Given the description of an element on the screen output the (x, y) to click on. 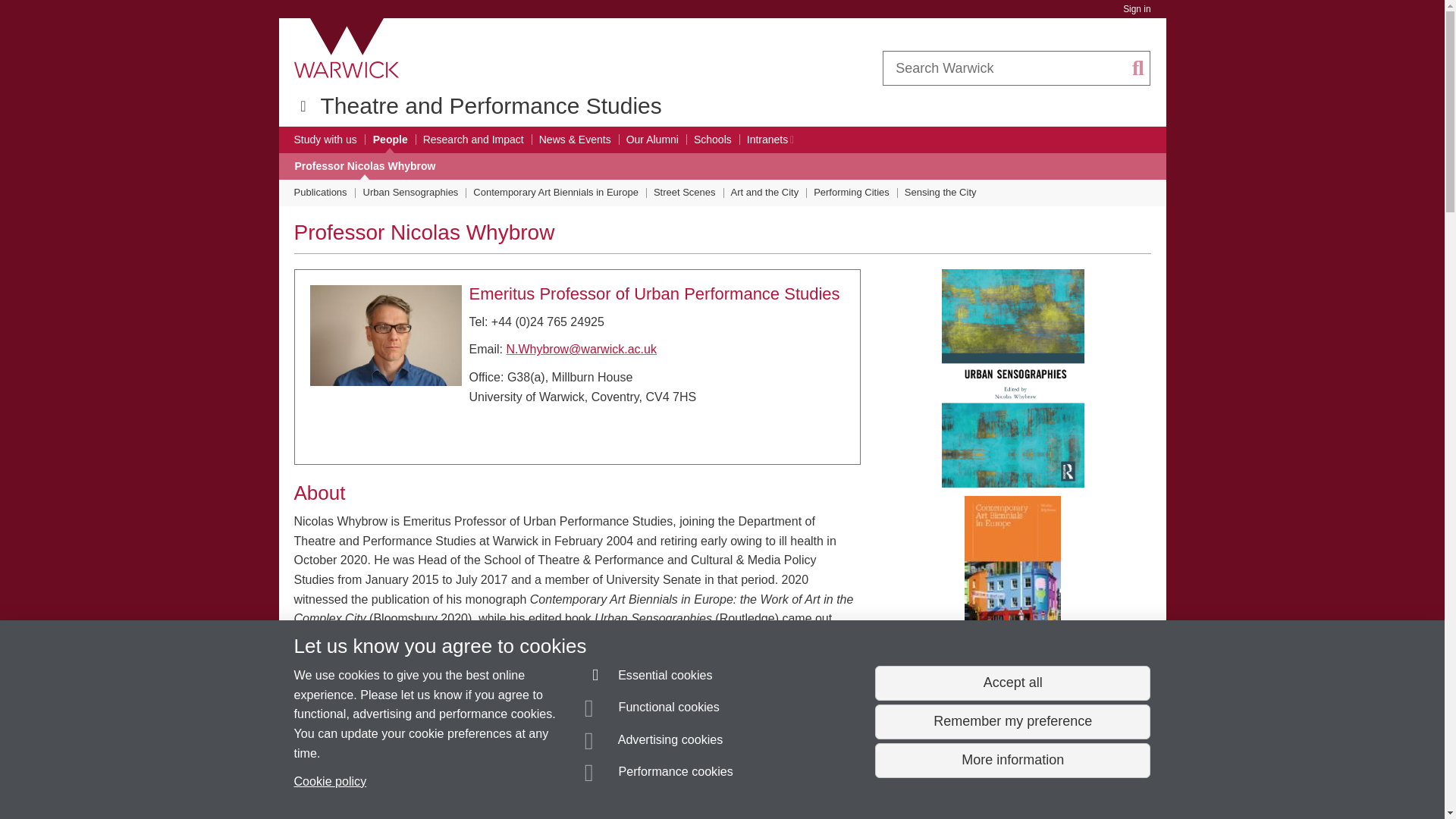
University of Warwick homepage (346, 48)
Accept all functional, advertising and performance cookies (1012, 683)
Our Alumni (652, 139)
Theatre and Performance Studies (490, 105)
Urban Sensographies (410, 192)
Sign in (1136, 9)
Professor Nicolas Whybrow (364, 166)
Publications (320, 192)
Restricted permissions (790, 140)
People (389, 139)
Schools (713, 139)
